Given the description of an element on the screen output the (x, y) to click on. 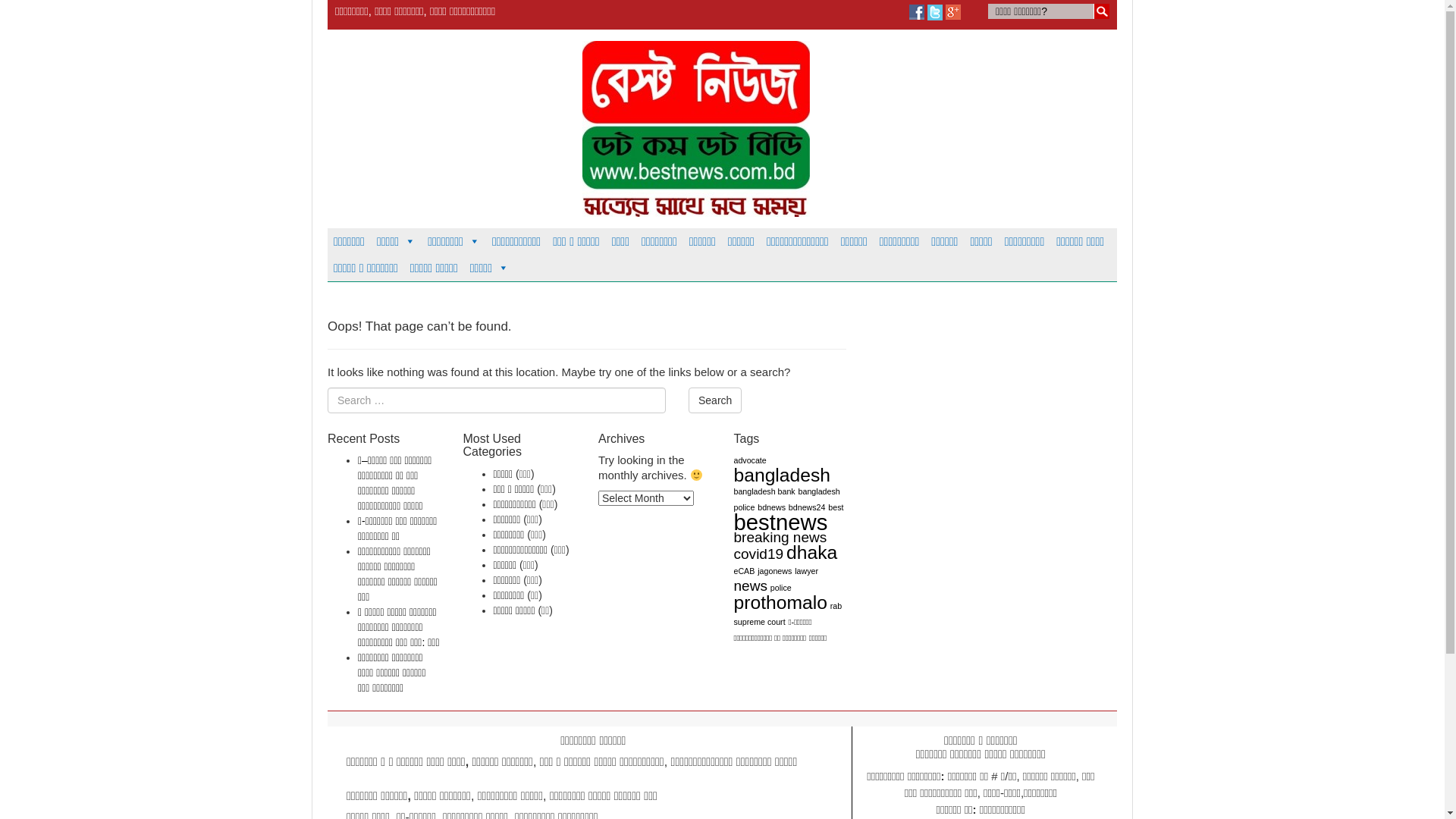
bdnews Element type: text (771, 506)
eCAB Element type: text (744, 570)
advocate Element type: text (750, 459)
bangladesh Element type: text (782, 474)
rab Element type: text (835, 605)
prothomalo Element type: text (780, 602)
best Element type: text (835, 506)
jagonews Element type: text (774, 570)
covid19 Element type: text (759, 553)
lawyer Element type: text (806, 570)
bestnews Element type: text (781, 521)
bangladesh bank Element type: text (764, 490)
news Element type: text (750, 585)
Search Element type: text (714, 400)
police Element type: text (780, 587)
supreme court Element type: text (759, 621)
dhaka Element type: text (811, 552)
bdnews24 Element type: text (806, 506)
bangladesh police Element type: text (787, 498)
breaking news Element type: text (780, 537)
